Given the description of an element on the screen output the (x, y) to click on. 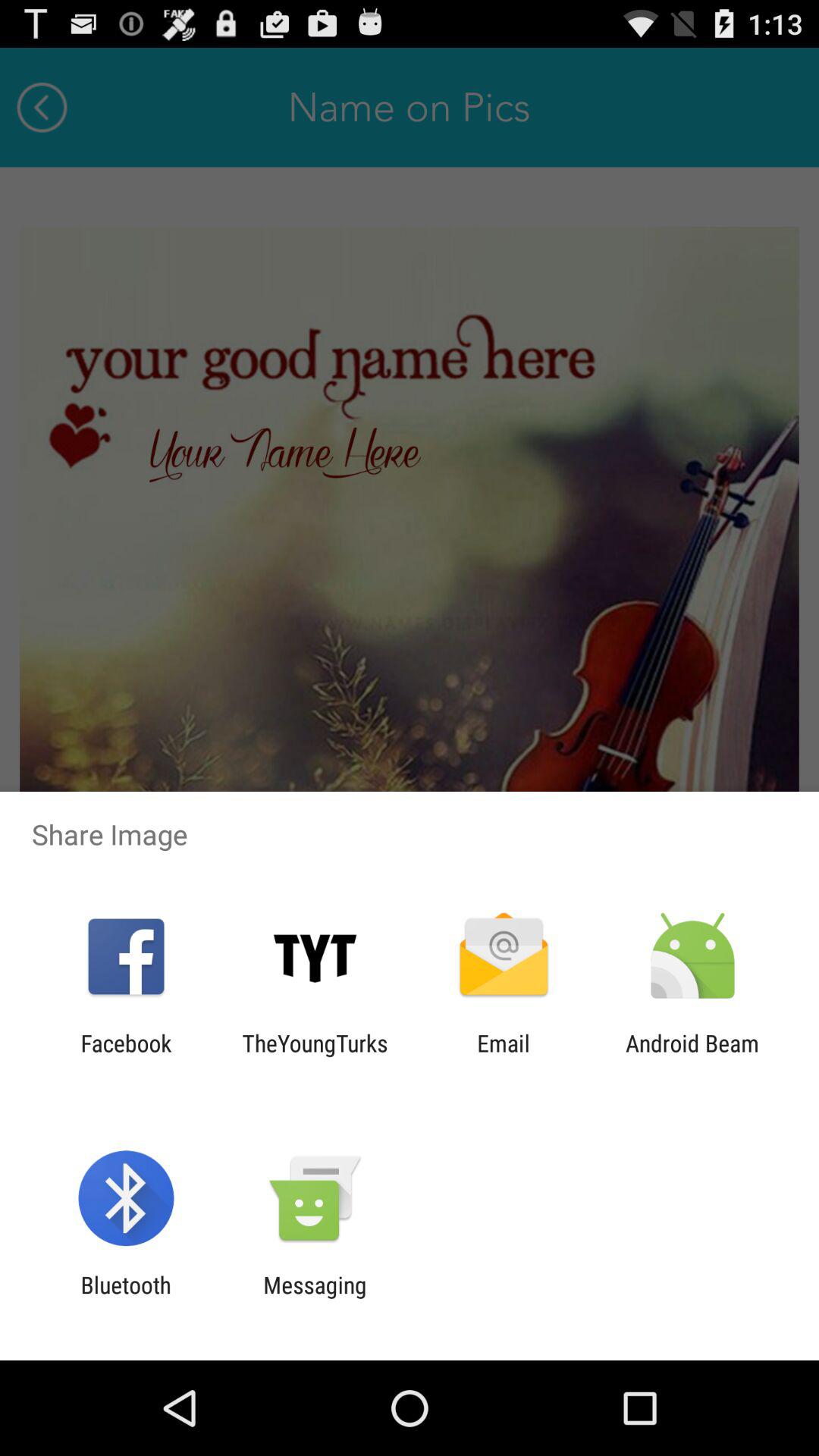
tap the app to the right of the theyoungturks icon (503, 1056)
